Given the description of an element on the screen output the (x, y) to click on. 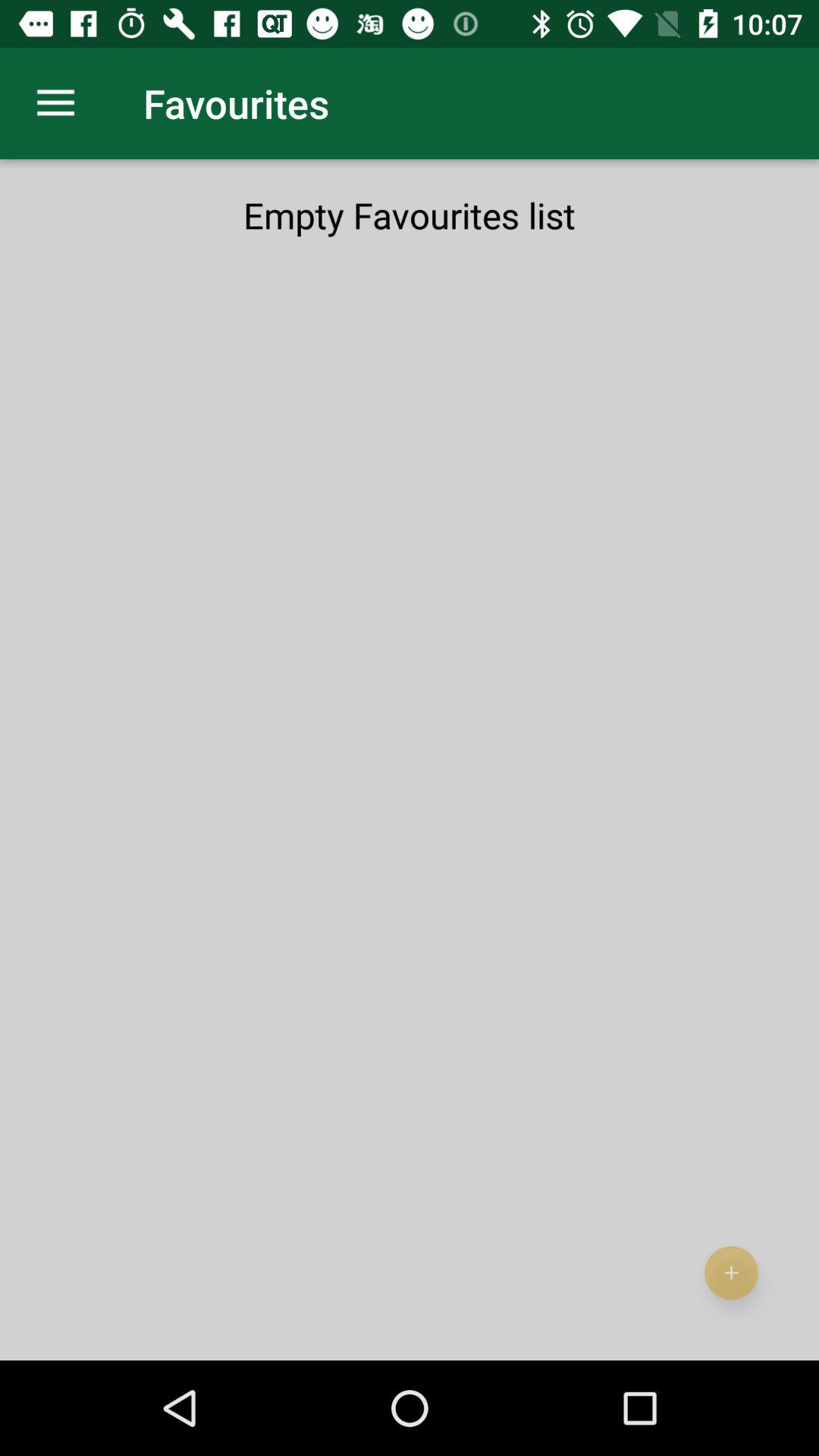
open the empty favourites list at the top (409, 215)
